Given the description of an element on the screen output the (x, y) to click on. 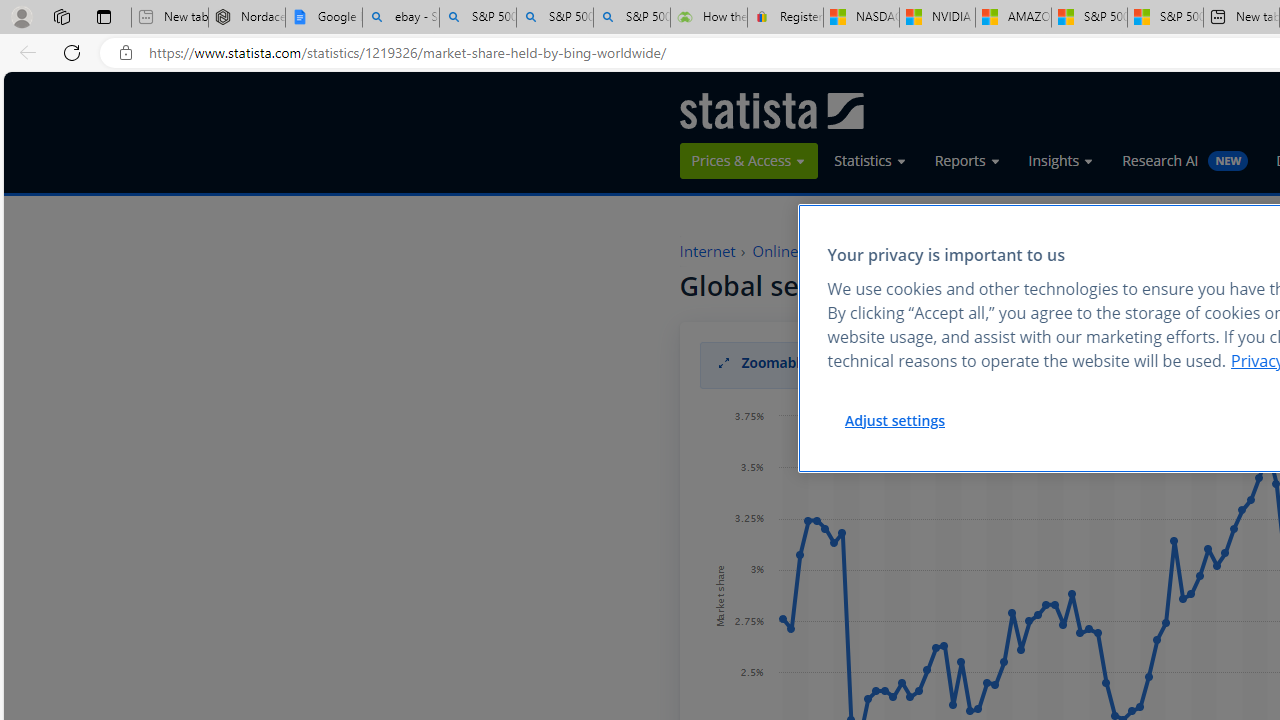
ebay - Search (401, 17)
Skip to main content (19, 84)
Online Search (800, 251)
